Given the description of an element on the screen output the (x, y) to click on. 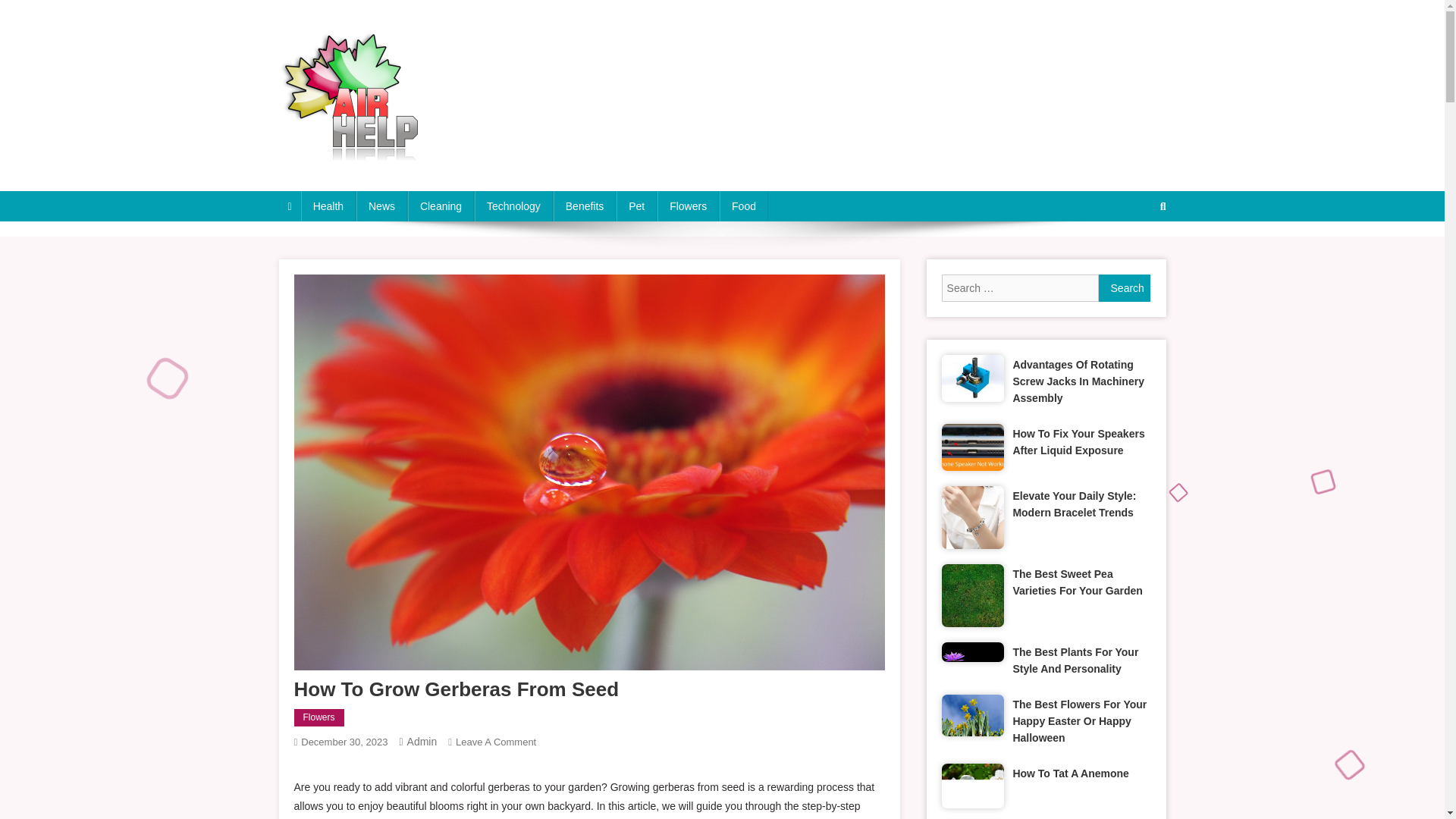
Flowers (688, 205)
Pet (635, 205)
Search (1125, 288)
Food (743, 205)
Technology (513, 205)
Search (1125, 288)
December 30, 2023 (344, 741)
Cleaning (440, 205)
Health (328, 205)
Advantages Of Rotating Screw Jacks In Machinery Assembly (1080, 381)
